Given the description of an element on the screen output the (x, y) to click on. 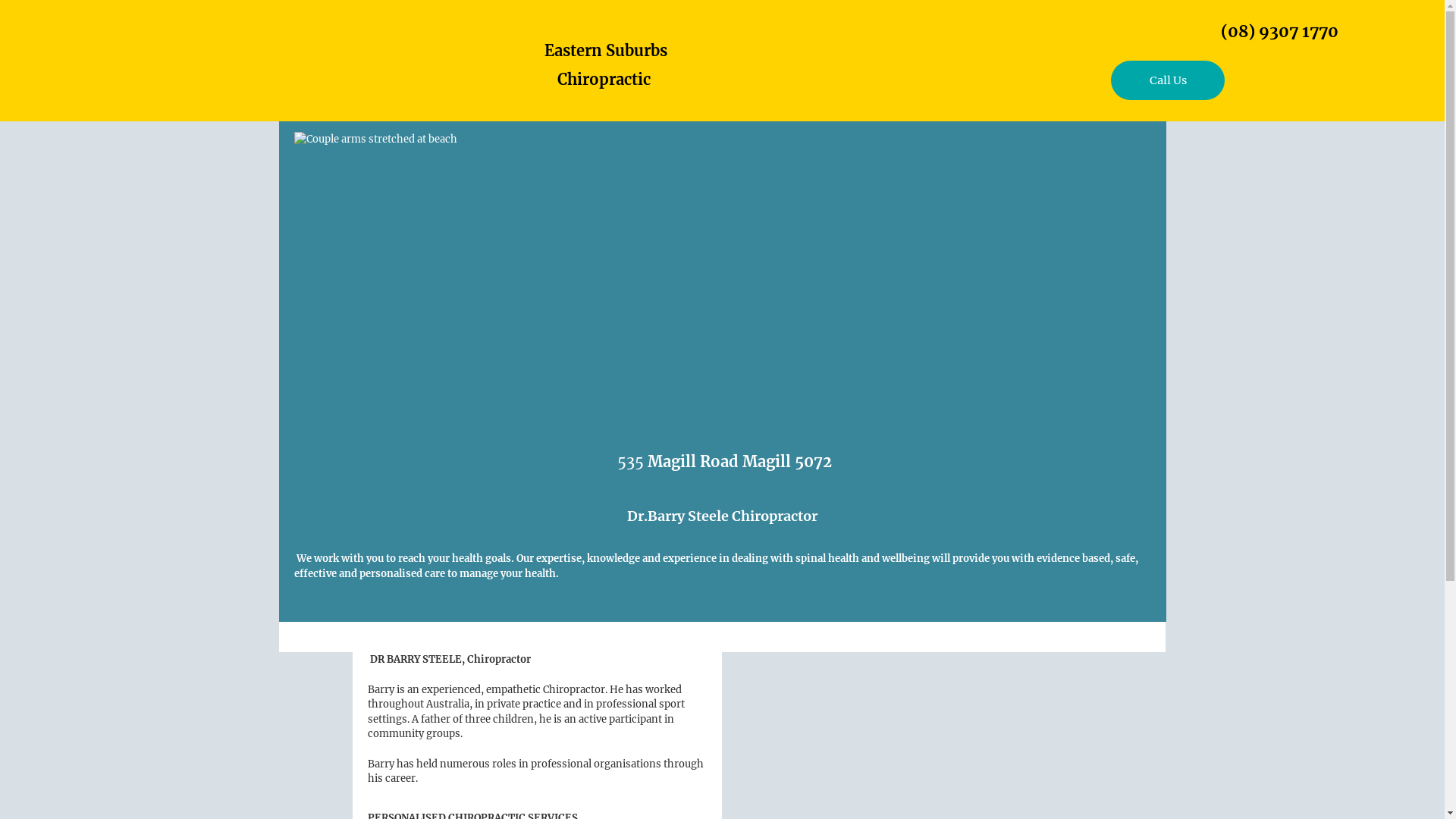
Call Us Element type: text (1167, 80)
(08)  Element type: text (1239, 31)
Eastern Suburbs Chiropractic  Element type: text (605, 62)
Couple arms stretched at beach Element type: hover (722, 275)
